Given the description of an element on the screen output the (x, y) to click on. 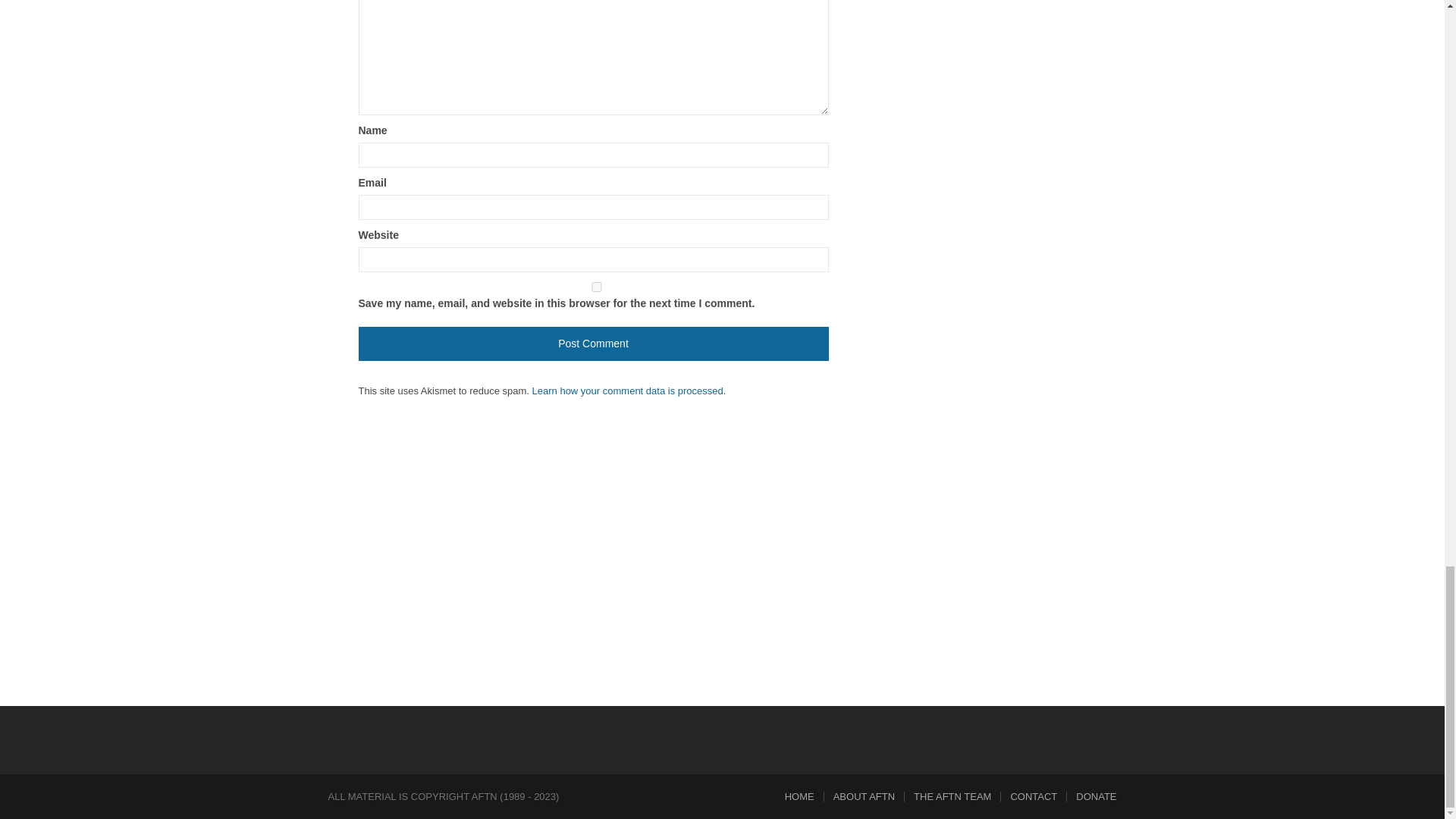
yes (596, 286)
Post Comment (593, 343)
